Given the description of an element on the screen output the (x, y) to click on. 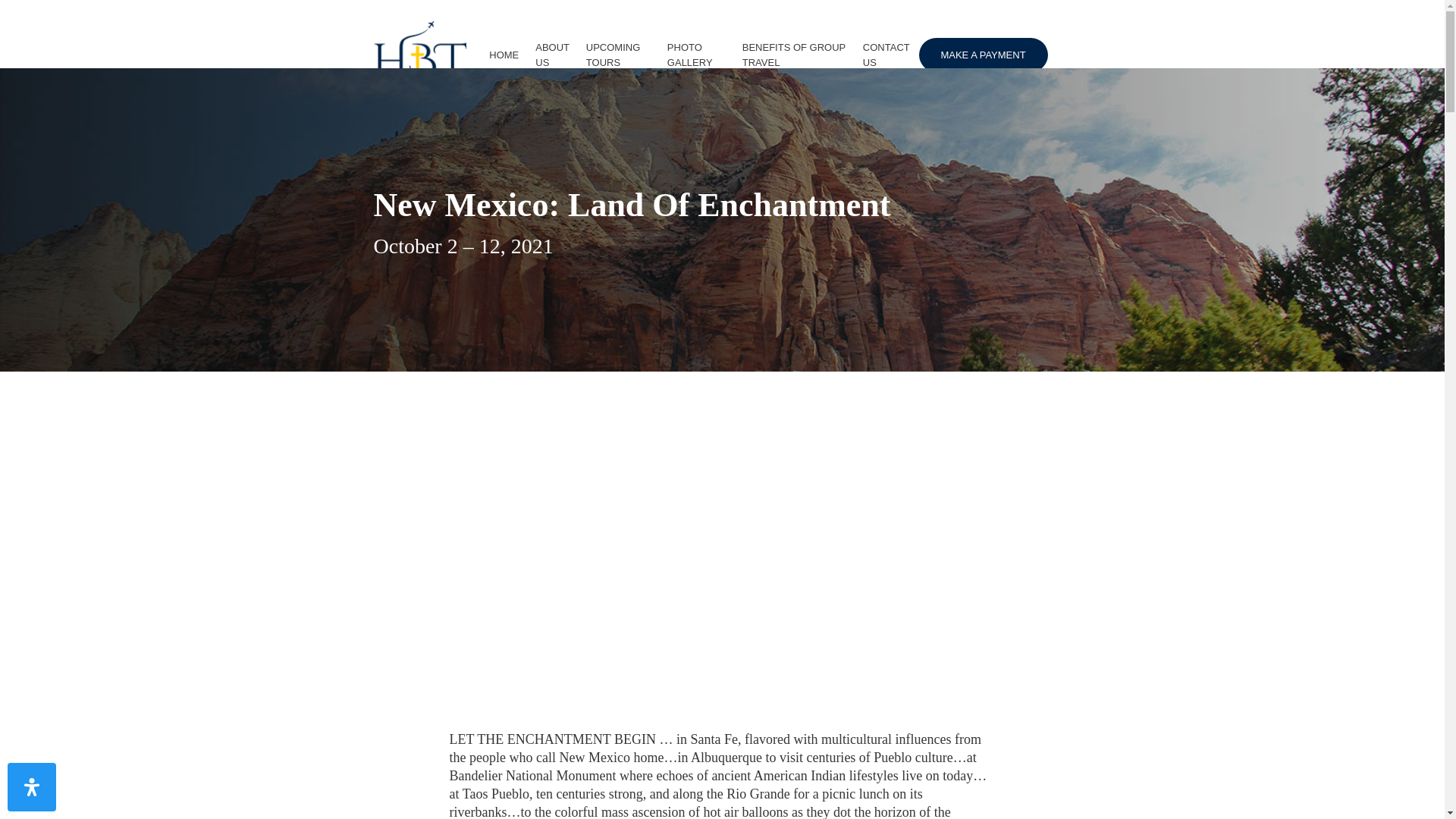
CONTACT US (886, 54)
ABOUT US (551, 54)
PHOTO GALLERY (696, 54)
BENEFITS OF GROUP TRAVEL (794, 54)
HOME (503, 54)
MAKE A PAYMENT (983, 54)
UPCOMING TOURS (618, 54)
